Given the description of an element on the screen output the (x, y) to click on. 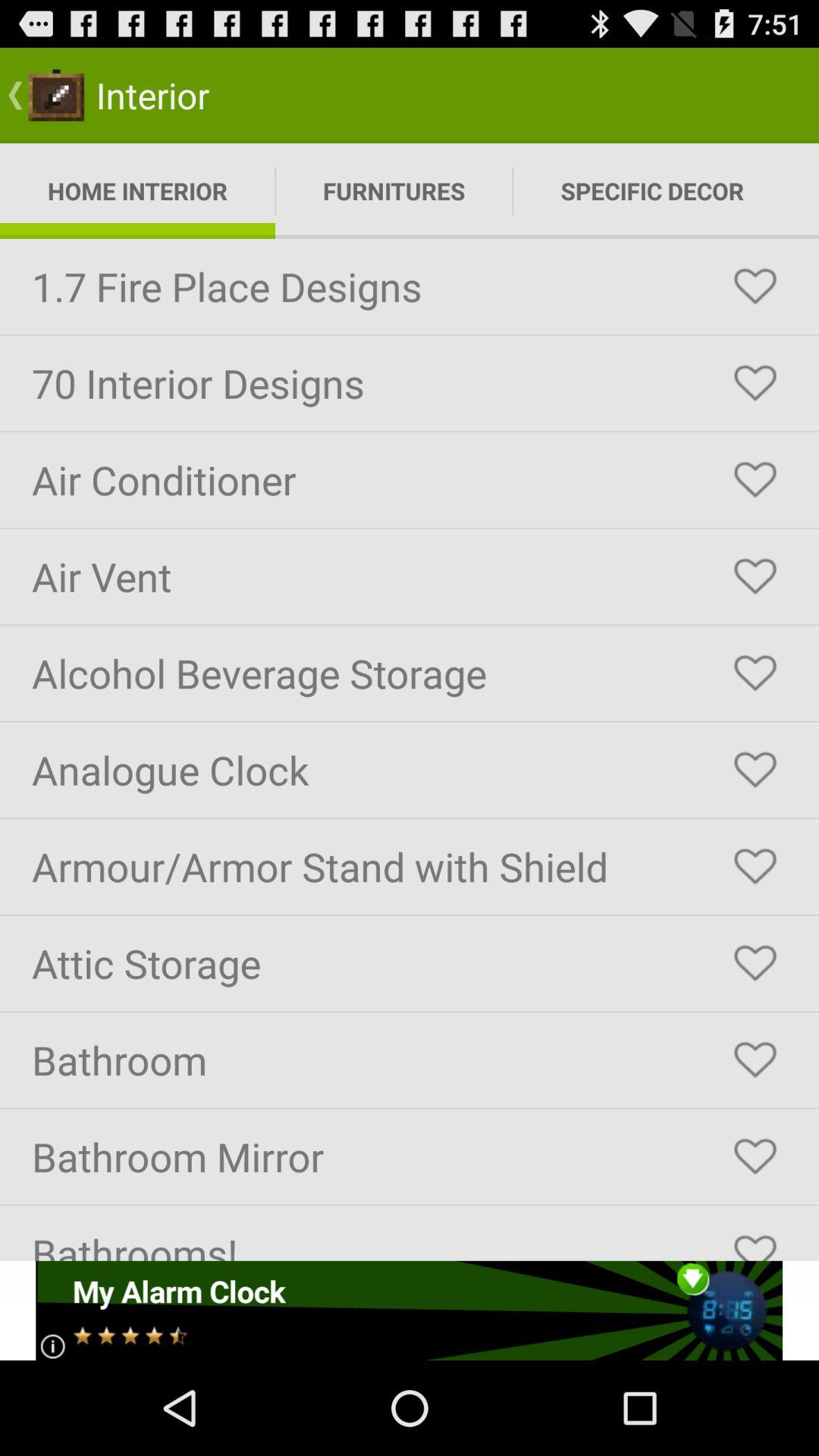
favorite this item (755, 769)
